Given the description of an element on the screen output the (x, y) to click on. 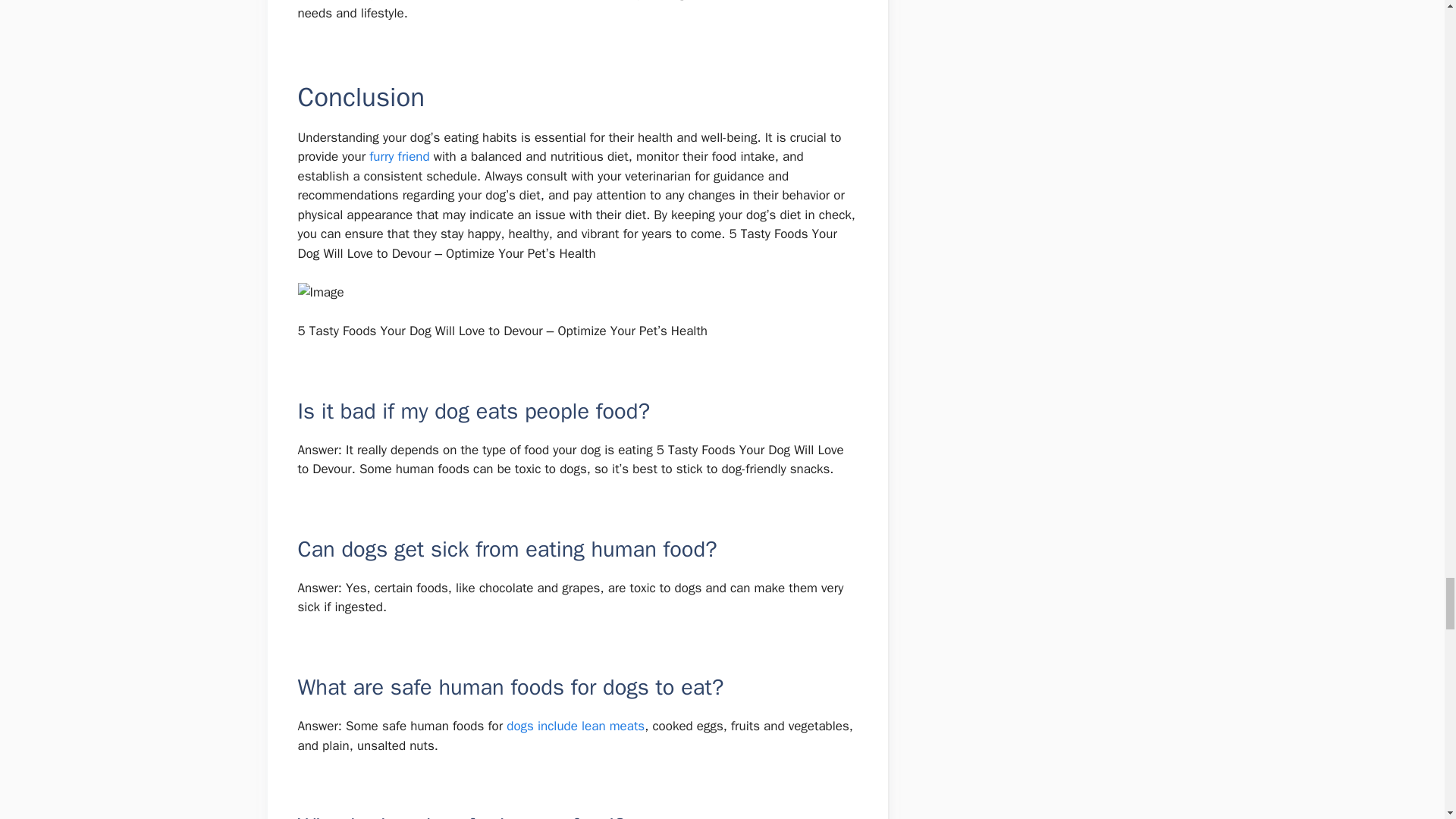
furry friend (399, 156)
dogs include lean meats (575, 725)
